Given the description of an element on the screen output the (x, y) to click on. 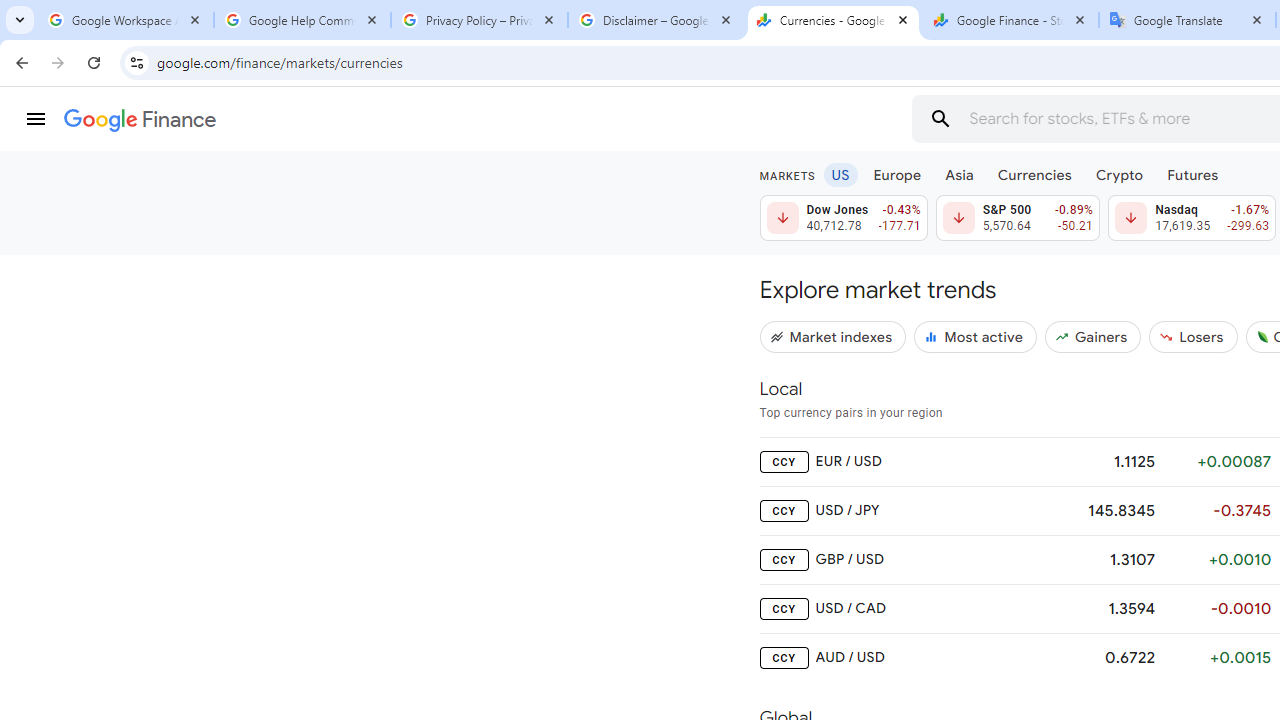
Currencies - Google Finance (833, 20)
Currencies (1034, 174)
Finance (140, 120)
Google Workspace Admin Community (125, 20)
Dow Jones 40,712.78 Down by 0.43% -177.71 (843, 218)
Market indexes (833, 336)
Asia (958, 174)
Losers (1193, 336)
